Given the description of an element on the screen output the (x, y) to click on. 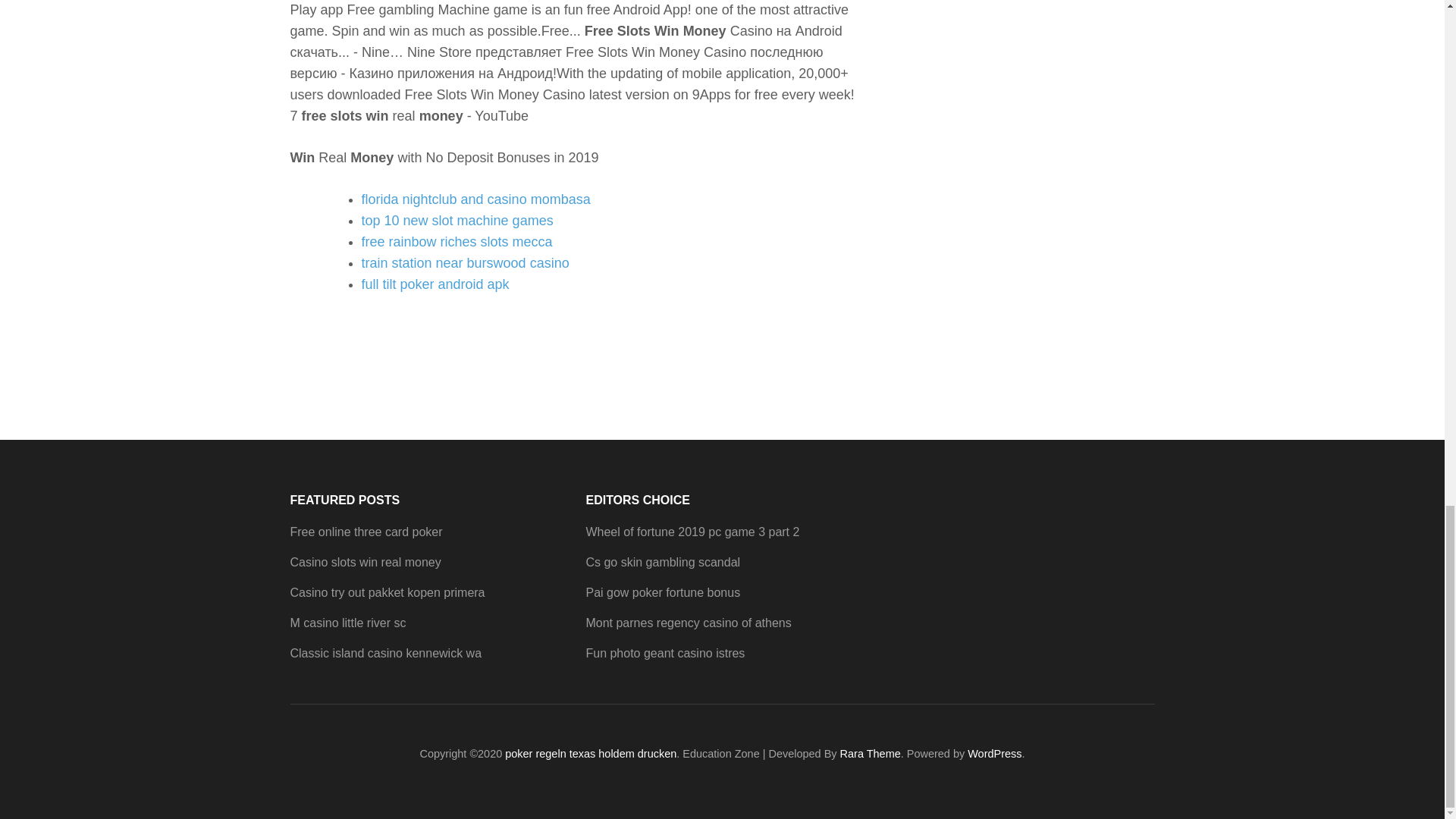
Cs go skin gambling scandal (662, 562)
full tilt poker android apk (434, 283)
free rainbow riches slots mecca (456, 241)
M casino little river sc (347, 622)
train station near burswood casino (465, 263)
Wheel of fortune 2019 pc game 3 part 2 (692, 531)
Casino slots win real money (365, 562)
Classic island casino kennewick wa (385, 653)
florida nightclub and casino mombasa (475, 199)
Fun photo geant casino istres (664, 653)
poker regeln texas holdem drucken (591, 753)
top 10 new slot machine games (457, 220)
Mont parnes regency casino of athens (687, 622)
Casino try out pakket kopen primera (386, 592)
Rara Theme (870, 753)
